Given the description of an element on the screen output the (x, y) to click on. 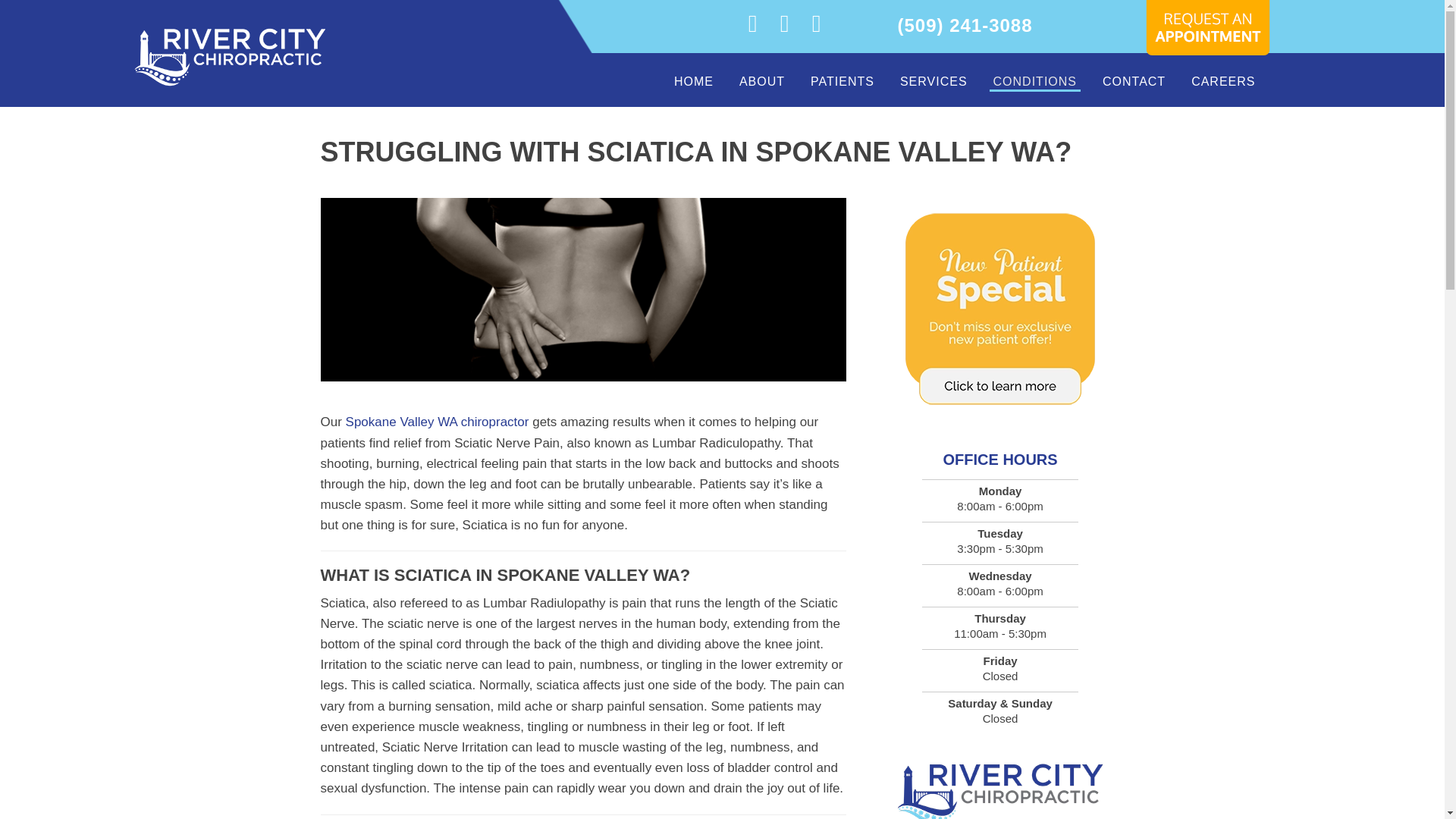
Request-an-Appointment-Yellow-Rectangle.png (1206, 36)
PATIENTS (841, 79)
ABOUT (762, 79)
Chiropractor Near Me Spokane Valley WA New Patient Special (1000, 309)
SERVICES (933, 79)
Chiropractic Spokane Valley WA River City Chiropractic (999, 787)
backpain1.jpg (582, 290)
CONDITIONS (1035, 79)
HOME (693, 79)
Chiropractic Spokane Valley WA River City Chiropractic (229, 52)
